Given the description of an element on the screen output the (x, y) to click on. 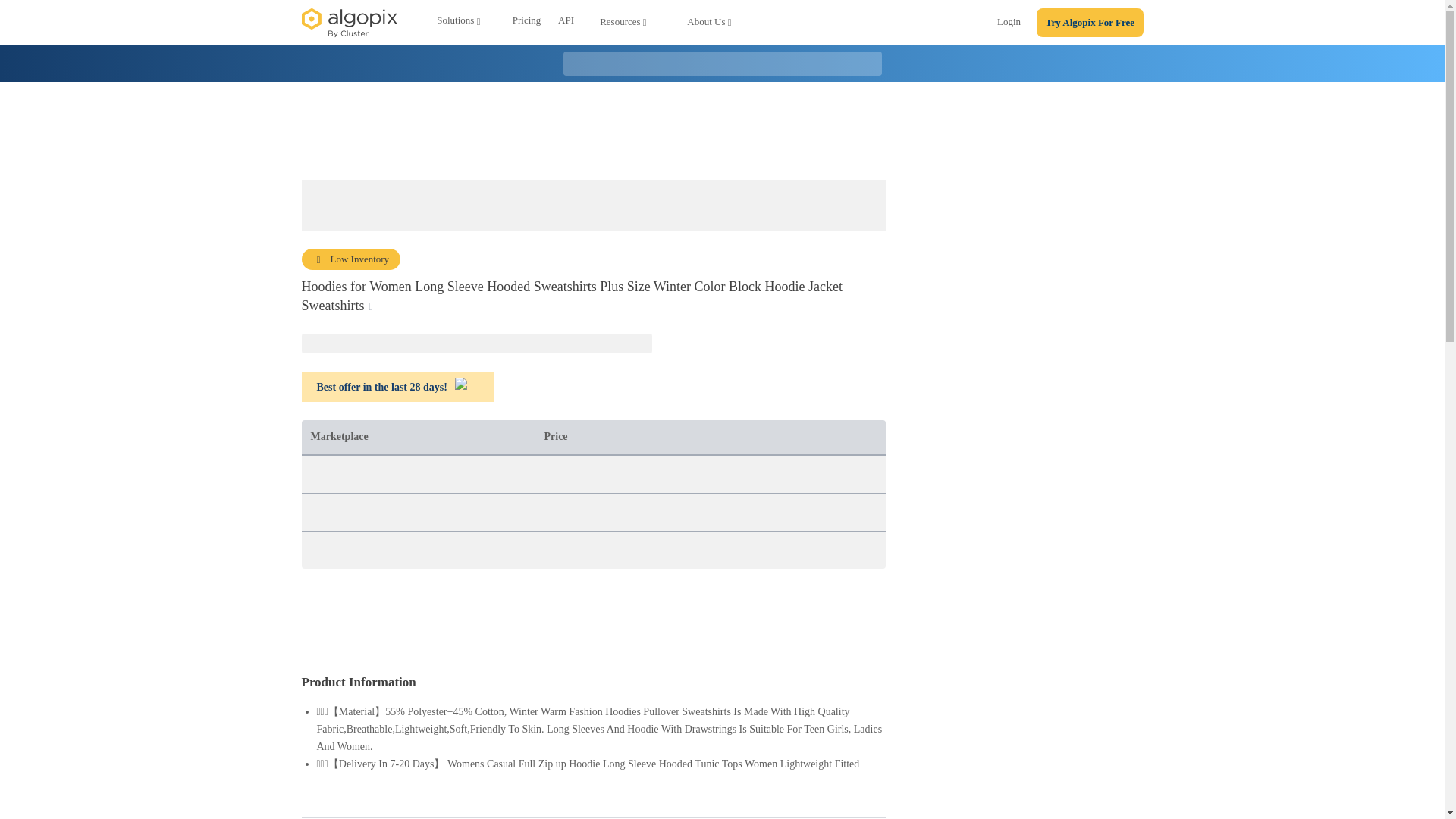
Login (1008, 24)
API (566, 22)
Pricing (525, 22)
Try Algopix For Free (1089, 22)
